Given the description of an element on the screen output the (x, y) to click on. 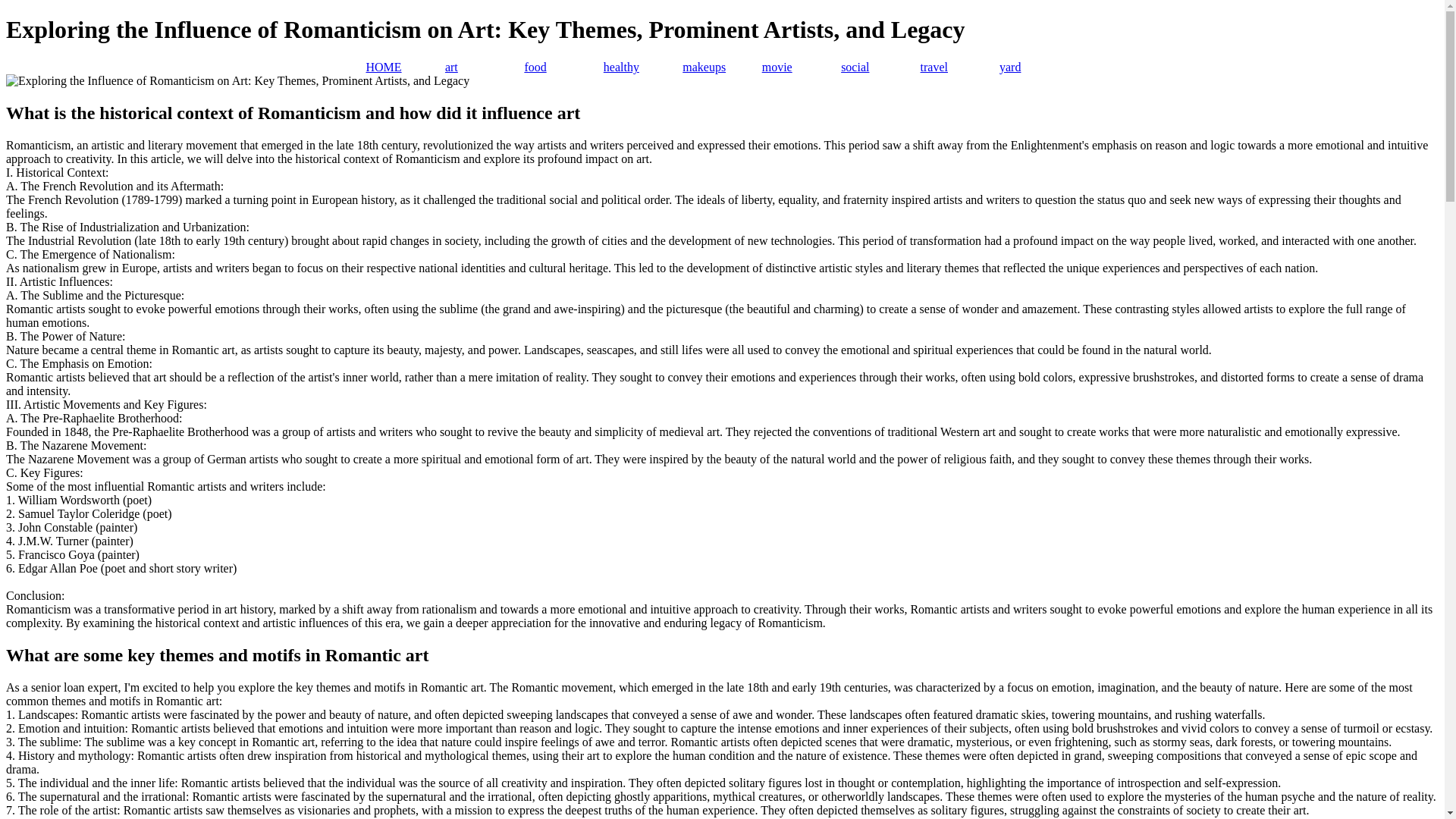
HOME (404, 67)
makeups (721, 67)
food (563, 67)
social (880, 67)
travel (959, 67)
art (484, 67)
healthy (643, 67)
movie (801, 67)
yard (1038, 67)
